Given the description of an element on the screen output the (x, y) to click on. 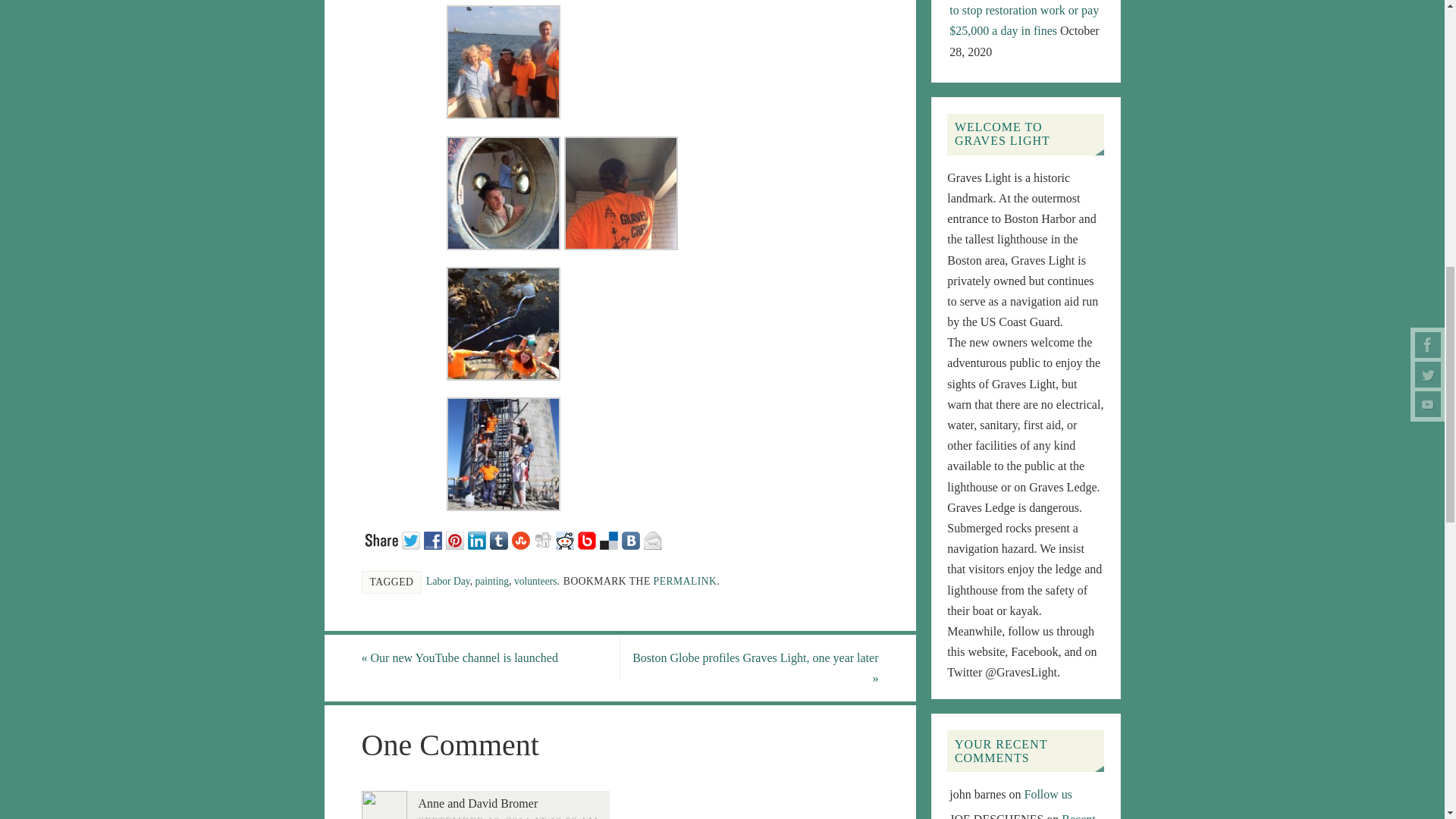
Tumblr (500, 538)
Pinterest (456, 538)
Linkedin (478, 538)
Facebook (434, 538)
Bebo (588, 538)
Twitter (412, 538)
Reddit (565, 538)
Digg (545, 538)
StumbleUpon (521, 538)
